Given the description of an element on the screen output the (x, y) to click on. 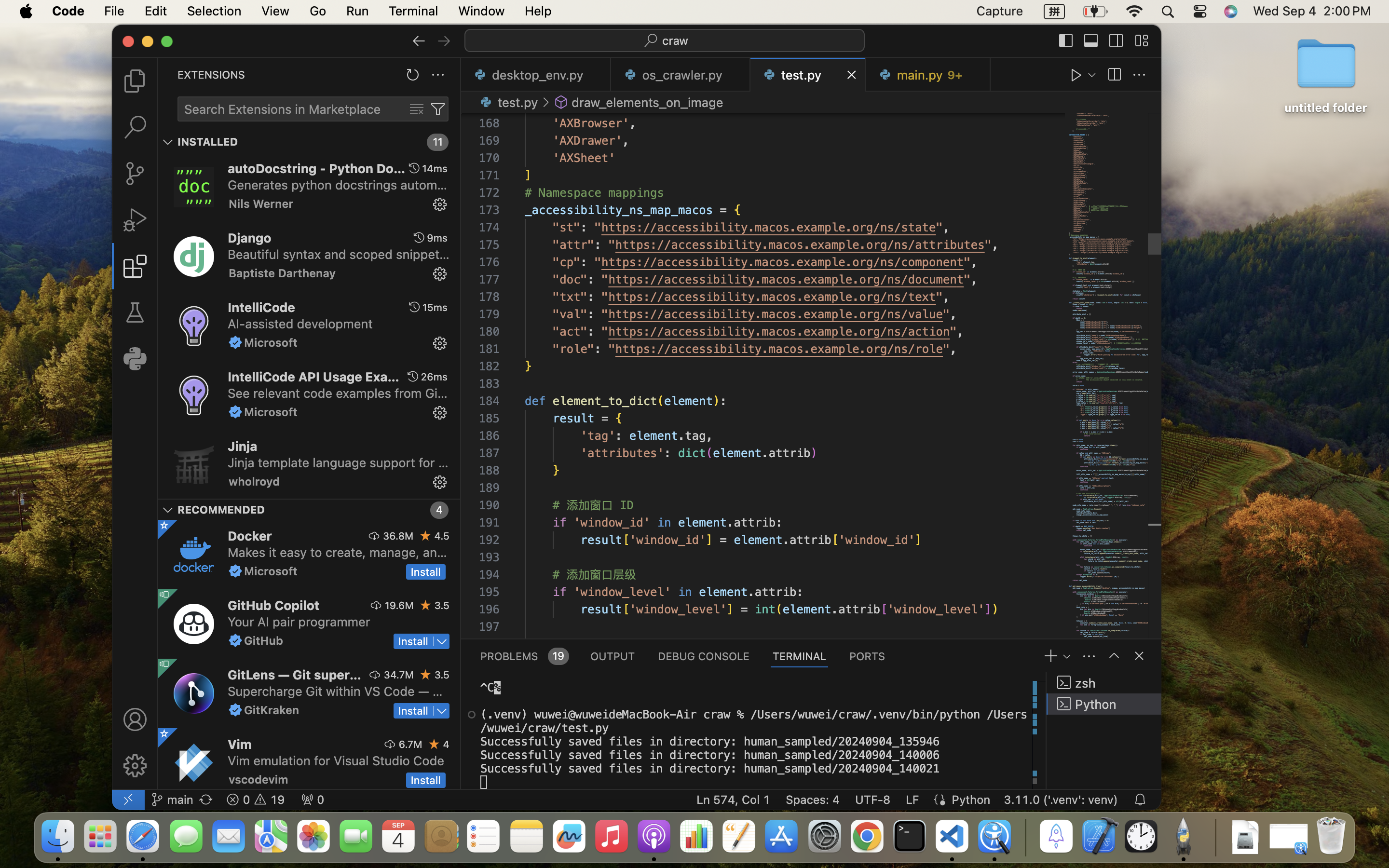
IntelliCode Element type: AXStaticText (261, 306)
GitHub Element type: AXStaticText (263, 640)
 Element type: AXCheckBox (1113, 655)
Baptiste Darthenay Element type: AXStaticText (282, 272)
 Element type: AXButton (1113, 74)
